Given the description of an element on the screen output the (x, y) to click on. 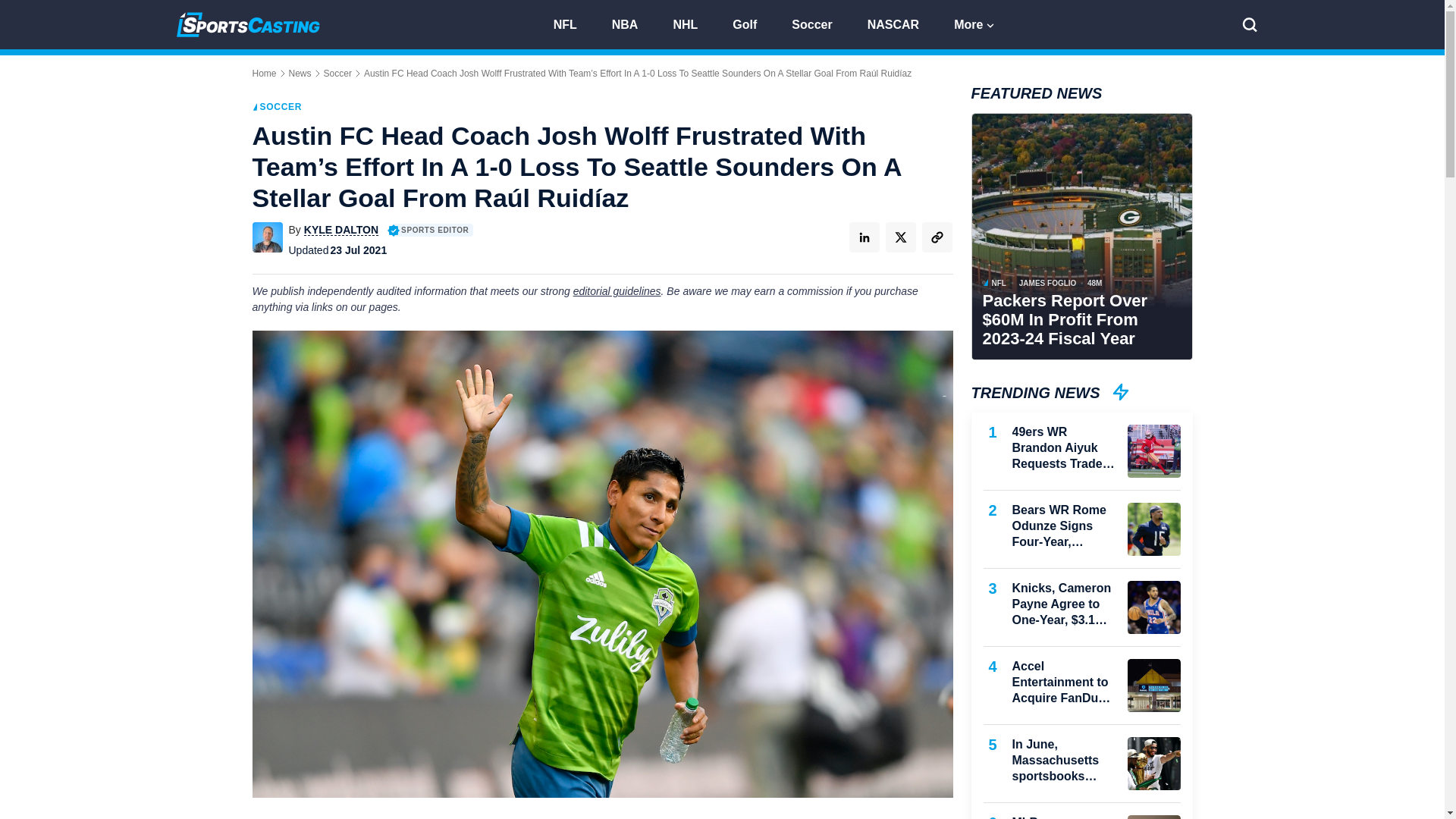
NFL (572, 22)
Soccer (818, 22)
News (299, 72)
Home (263, 72)
editorial guidelines (617, 291)
NHL (692, 22)
Golf (751, 22)
Soccer (337, 72)
More (975, 22)
NBA (631, 22)
NASCAR (900, 22)
